Given the description of an element on the screen output the (x, y) to click on. 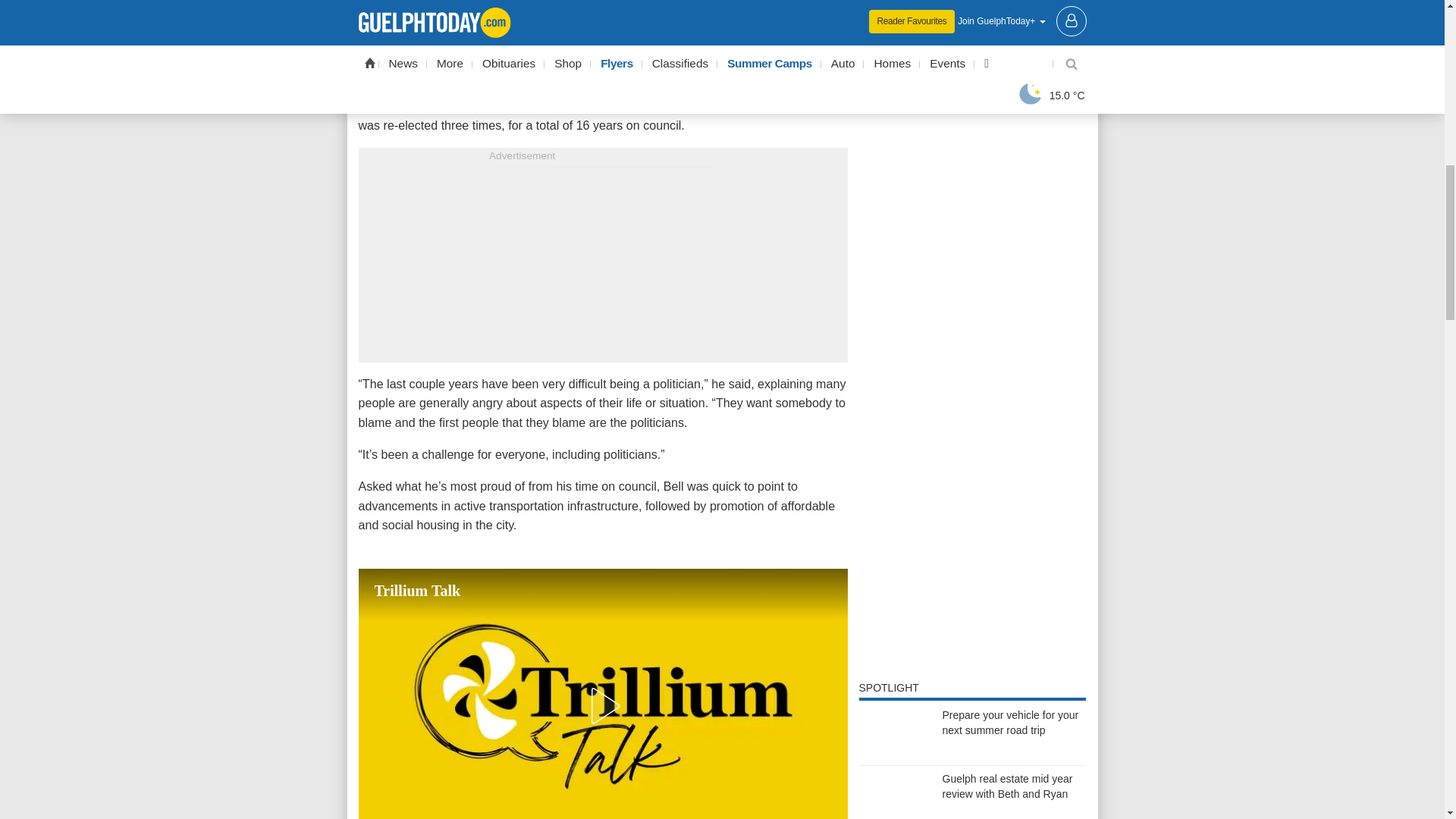
3rd party ad content (972, 261)
3rd party ad content (972, 466)
3rd party ad content (972, 621)
3rd party ad content (972, 105)
3rd party ad content (602, 262)
